Given the description of an element on the screen output the (x, y) to click on. 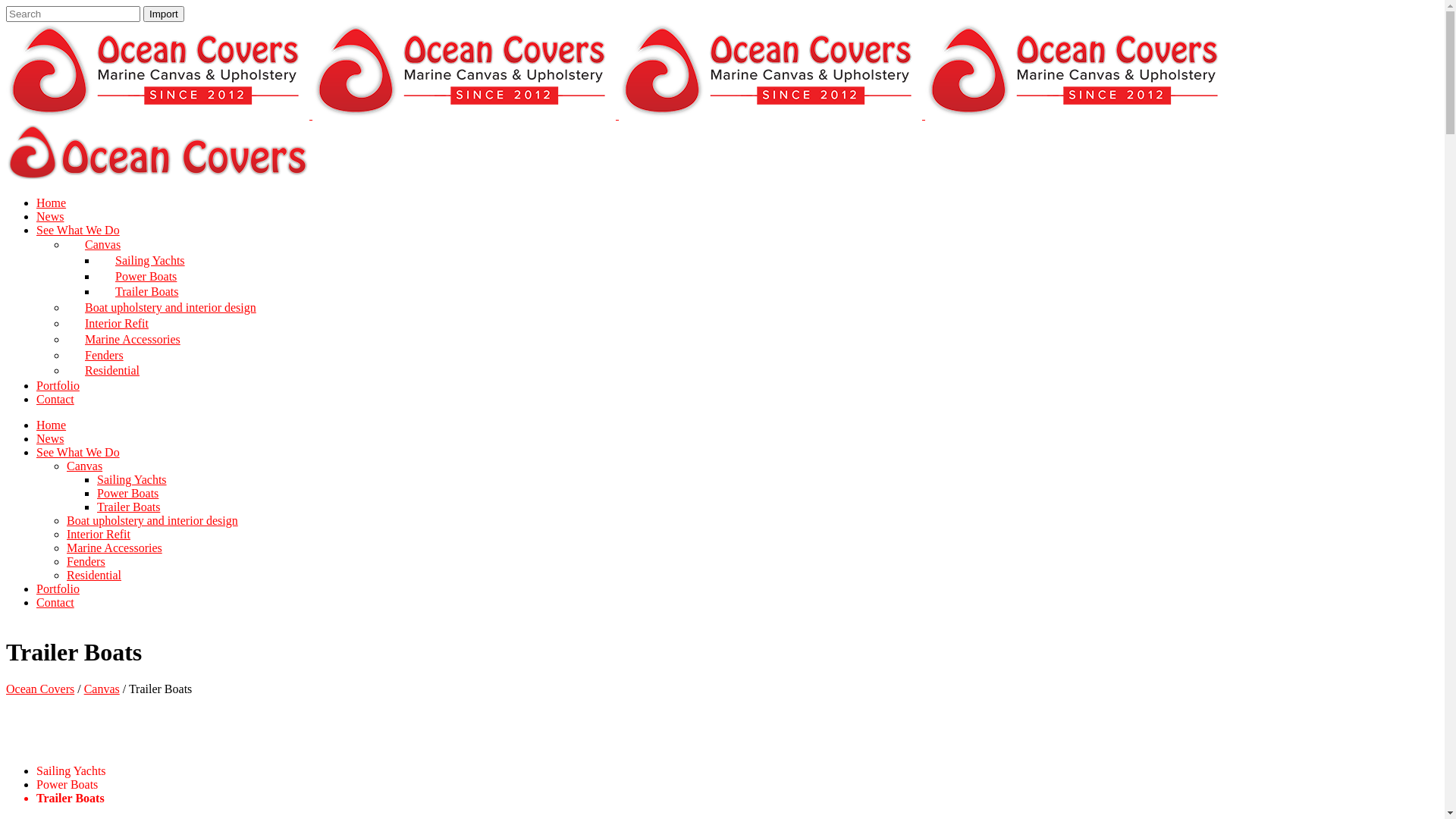
News Element type: text (49, 438)
Boat upholstery and interior design Element type: text (170, 307)
Sailing Yachts Element type: text (71, 770)
Boat upholstery and interior design Element type: text (152, 520)
Fenders Element type: text (85, 561)
Sailing Yachts Element type: text (131, 479)
Contact Element type: text (55, 398)
Residential Element type: text (111, 370)
Residential Element type: text (93, 574)
Marine Accessories Element type: text (114, 547)
Power Boats Element type: text (145, 275)
Trailer Boats Element type: text (128, 506)
Import Element type: text (163, 13)
Canvas Element type: text (84, 465)
Home Element type: text (50, 424)
Contact Element type: text (55, 602)
Power Boats Element type: text (127, 492)
Fenders Element type: text (103, 354)
Canvas Element type: text (101, 688)
Interior Refit Element type: text (98, 533)
Sailing Yachts Element type: text (150, 260)
Portfolio Element type: text (57, 385)
Canvas Element type: text (102, 244)
Ocean Covers Element type: text (40, 688)
Trailer Boats Element type: text (70, 797)
News Element type: text (49, 216)
Power Boats Element type: text (66, 784)
Home Element type: text (50, 202)
Interior Refit Element type: text (116, 322)
See What We Do Element type: text (77, 229)
See What We Do Element type: text (77, 451)
Trailer Boats Element type: text (146, 291)
Portfolio Element type: text (57, 588)
Marine Accessories Element type: text (132, 338)
